Given the description of an element on the screen output the (x, y) to click on. 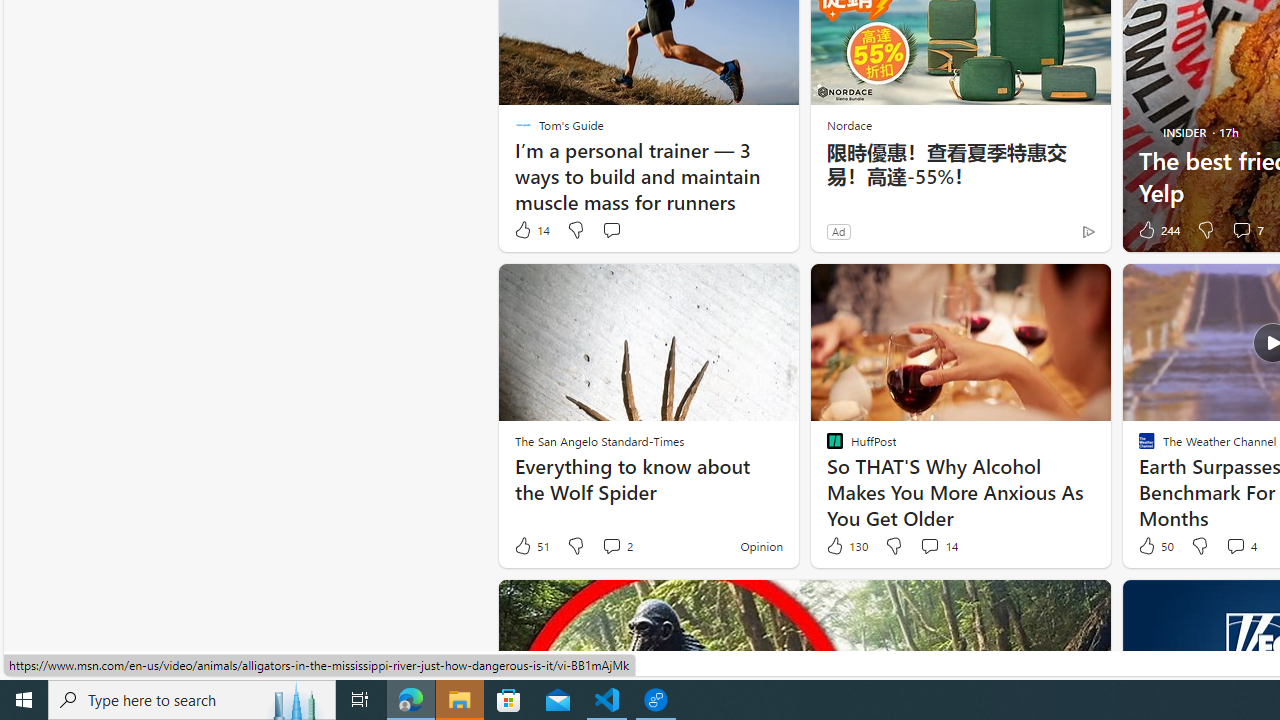
130 Like (845, 546)
View comments 7 Comment (1241, 229)
View comments 4 Comment (1234, 545)
View comments 14 Comment (938, 546)
Hide this story (1050, 603)
244 Like (1157, 230)
View comments 2 Comment (611, 545)
14 Like (531, 230)
50 Like (1154, 546)
